Given the description of an element on the screen output the (x, y) to click on. 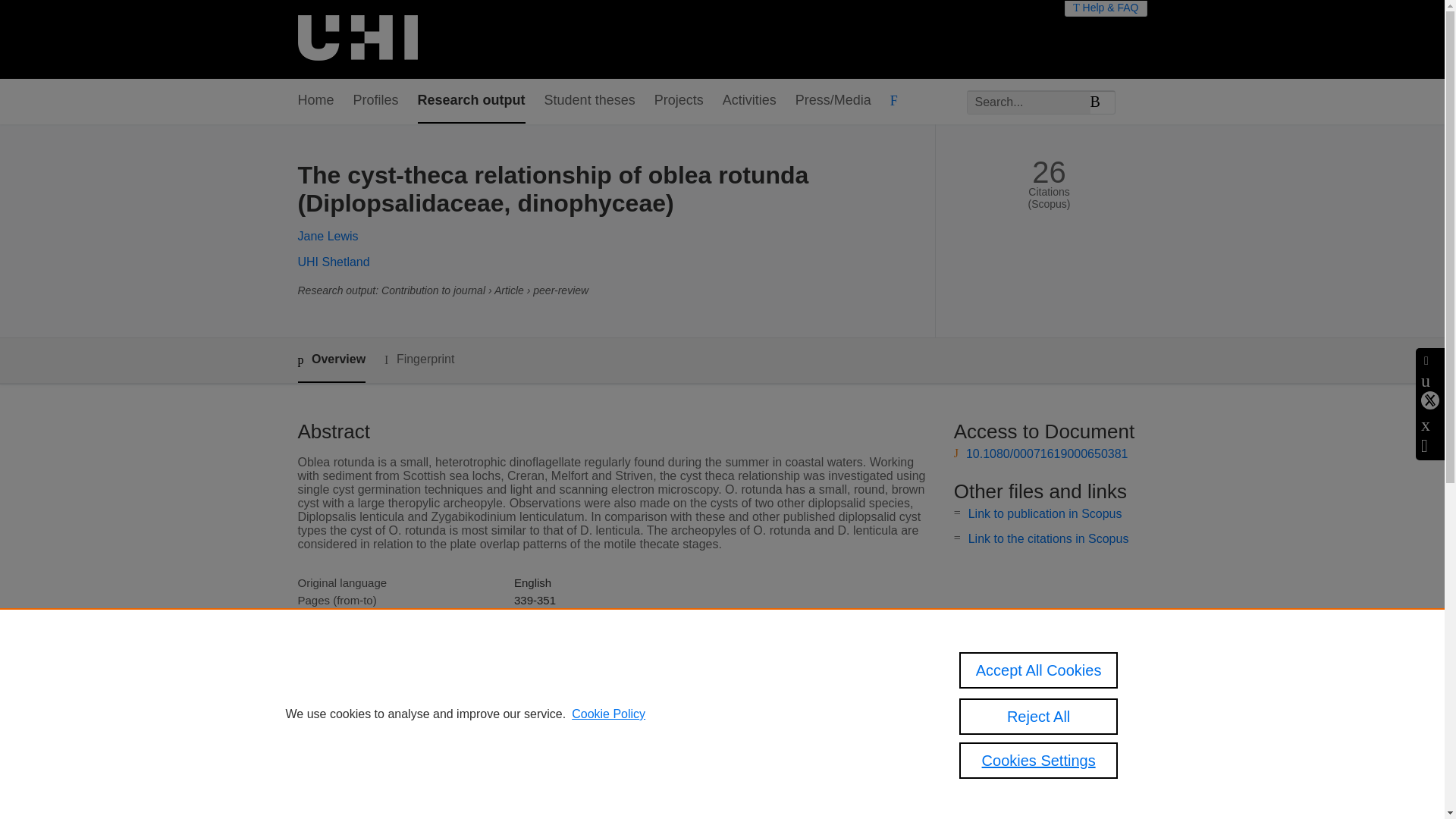
Research output (471, 100)
Profiles (375, 100)
UHI Shetland (333, 261)
Link to publication in Scopus (1045, 513)
Fingerprint (419, 359)
Jane Lewis (327, 236)
Student theses (589, 100)
Activities (749, 100)
Overview (331, 360)
Projects (678, 100)
University of the Highlands and Islands Home (356, 39)
Link to the citations in Scopus (1048, 538)
British Phycological Journal (582, 634)
